Given the description of an element on the screen output the (x, y) to click on. 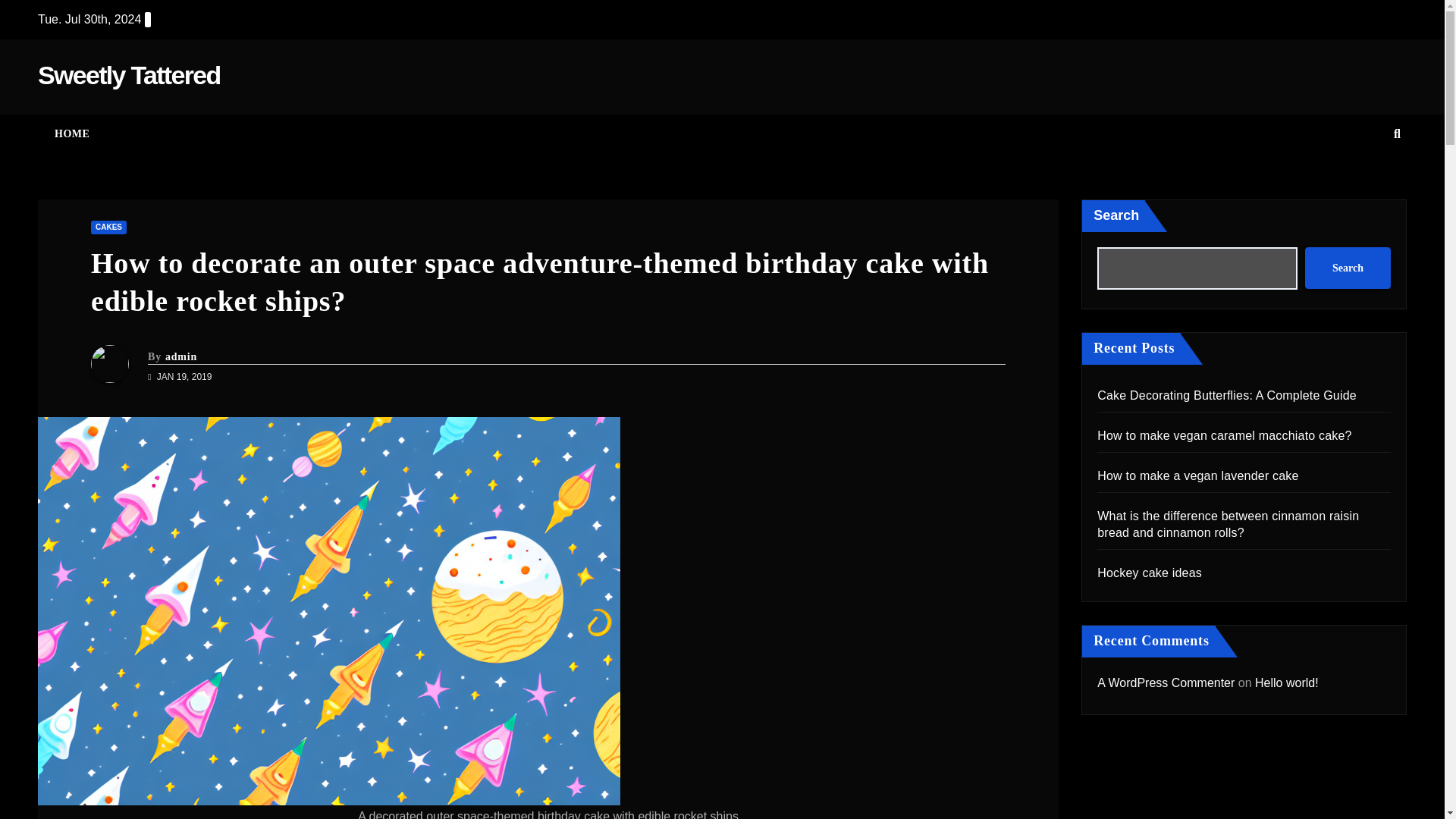
admin (180, 356)
CAKES (108, 227)
Sweetly Tattered (128, 74)
HOME (71, 133)
Home (71, 133)
Cake Decorating Butterflies: A Complete Guide (1226, 395)
Search (1347, 268)
